Given the description of an element on the screen output the (x, y) to click on. 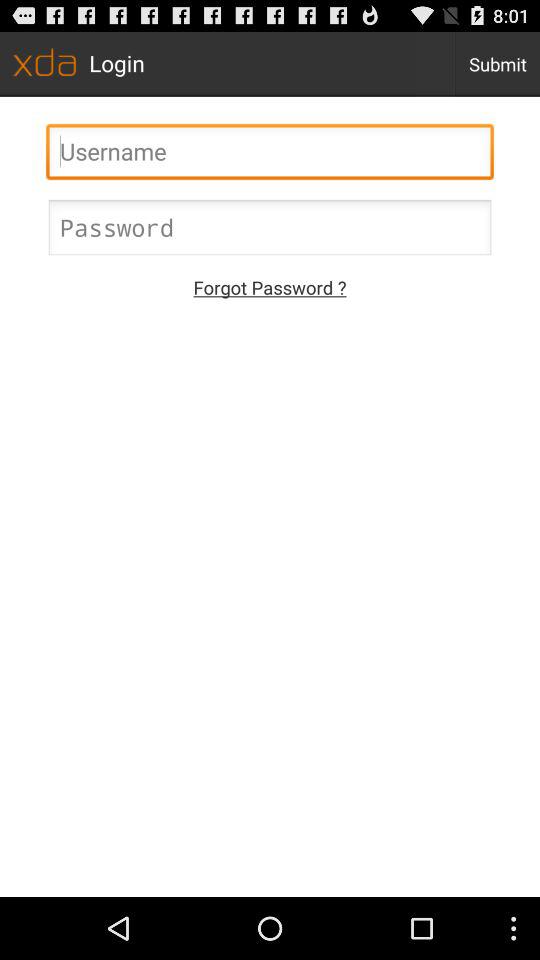
turn off forgot password ? item (269, 286)
